Given the description of an element on the screen output the (x, y) to click on. 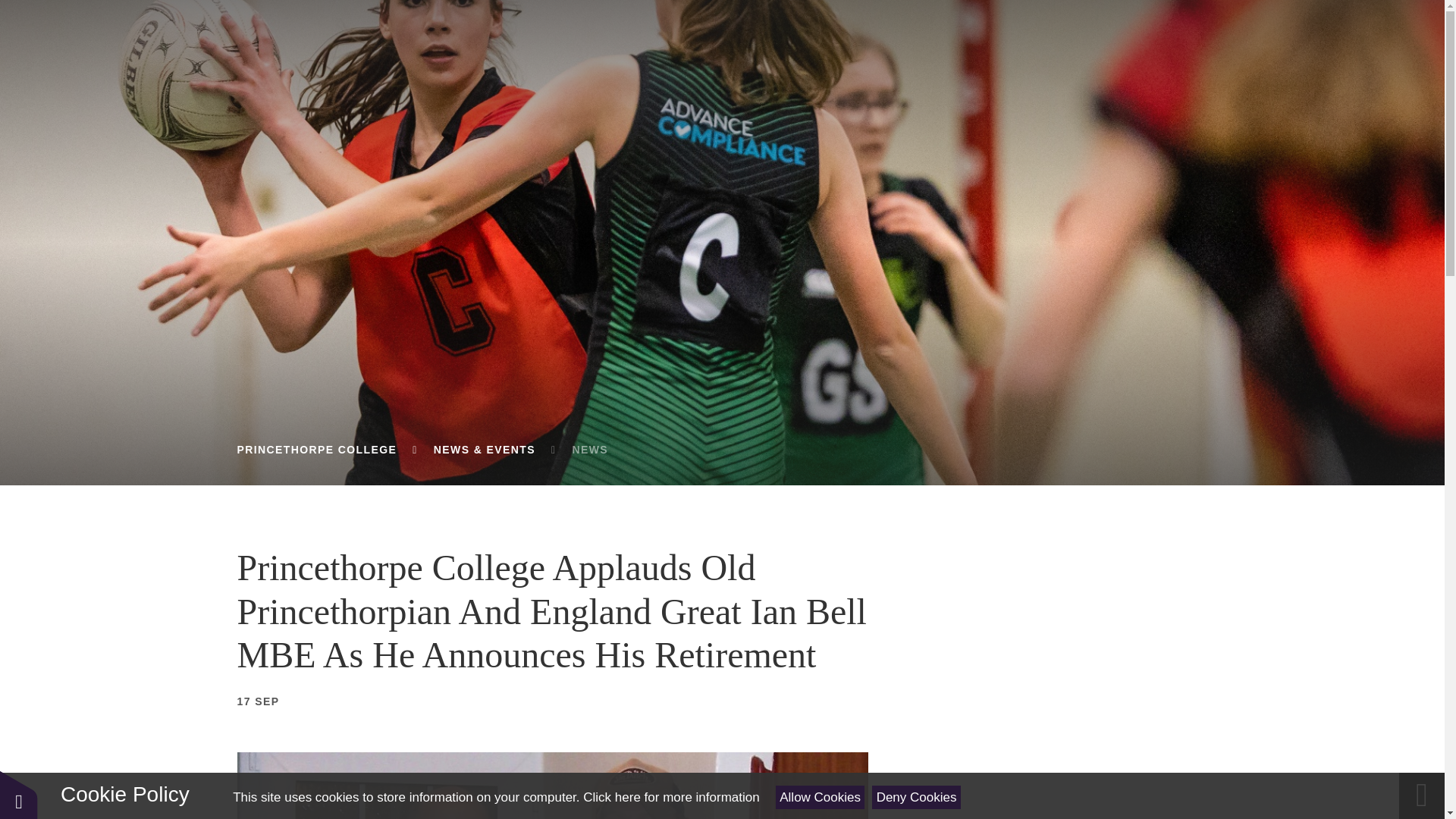
Deny Cookies (915, 797)
See cookie policy (670, 797)
Allow Cookies (820, 797)
